Given the description of an element on the screen output the (x, y) to click on. 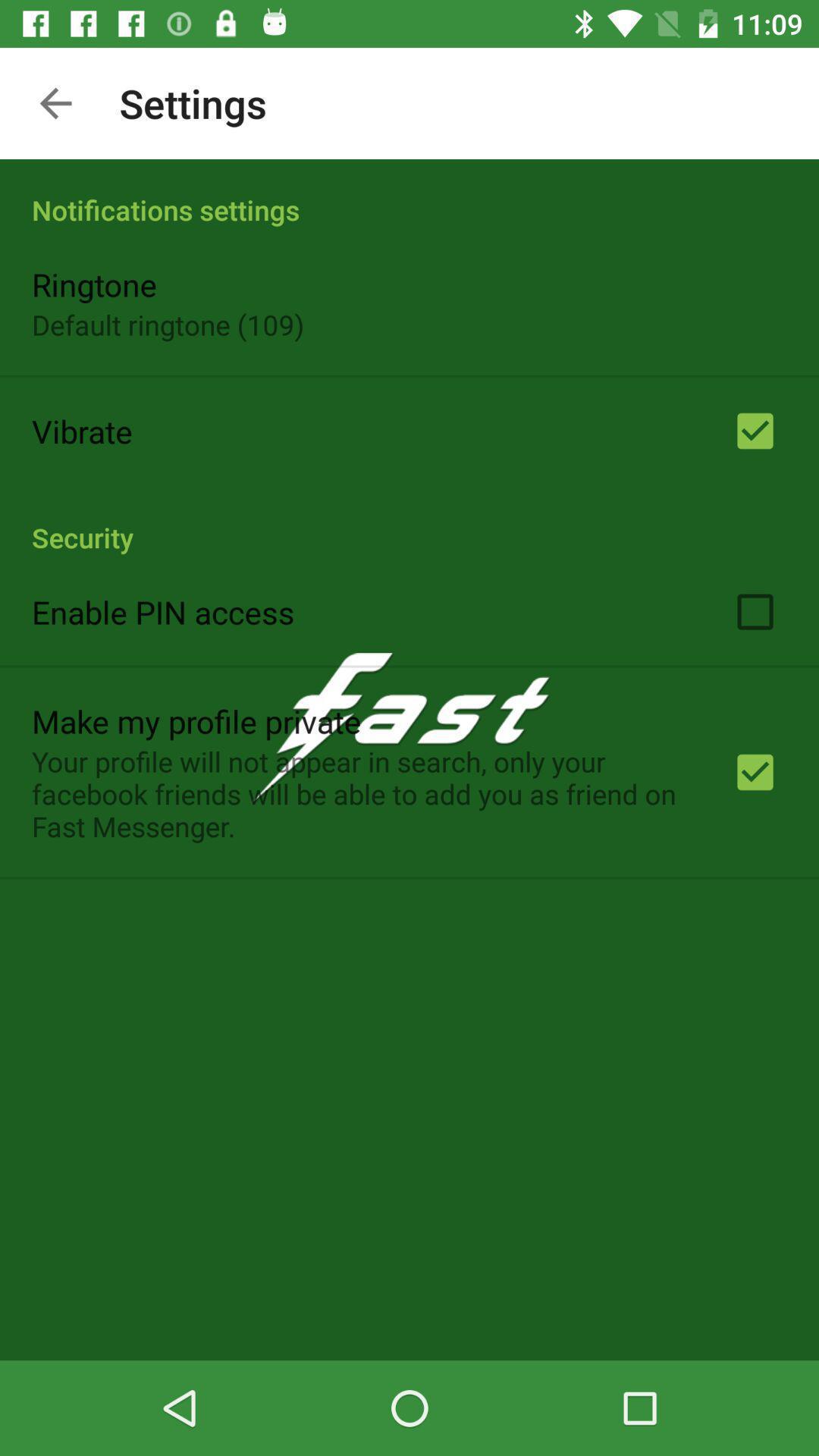
scroll until vibrate icon (81, 430)
